Given the description of an element on the screen output the (x, y) to click on. 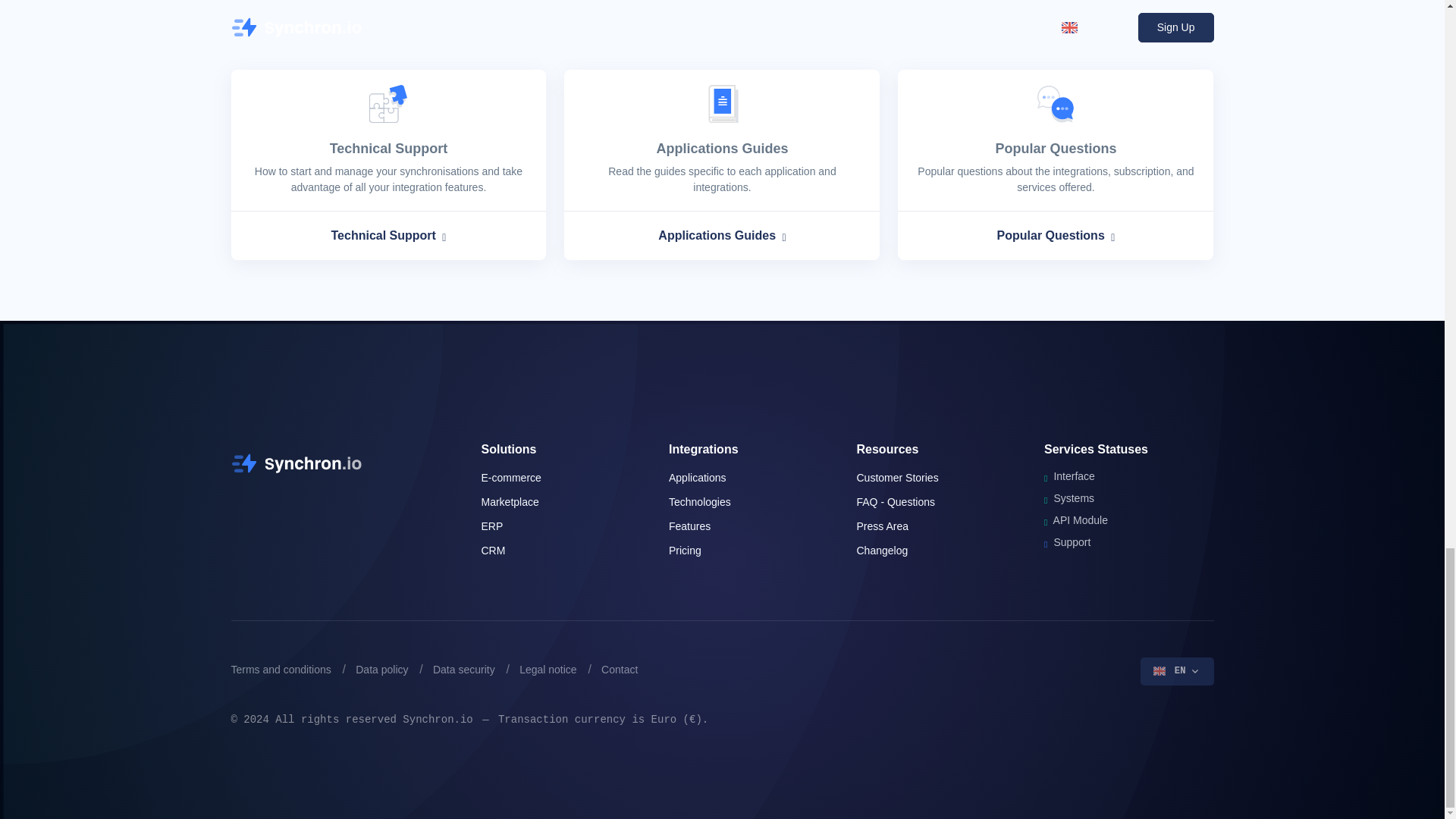
Solutions (507, 449)
Integrations (703, 449)
Data security (463, 669)
Contact (619, 669)
EN (1177, 670)
Technologies (699, 501)
Applications (697, 477)
FAQ - Questions (895, 501)
Customer Stories (898, 477)
